Given the description of an element on the screen output the (x, y) to click on. 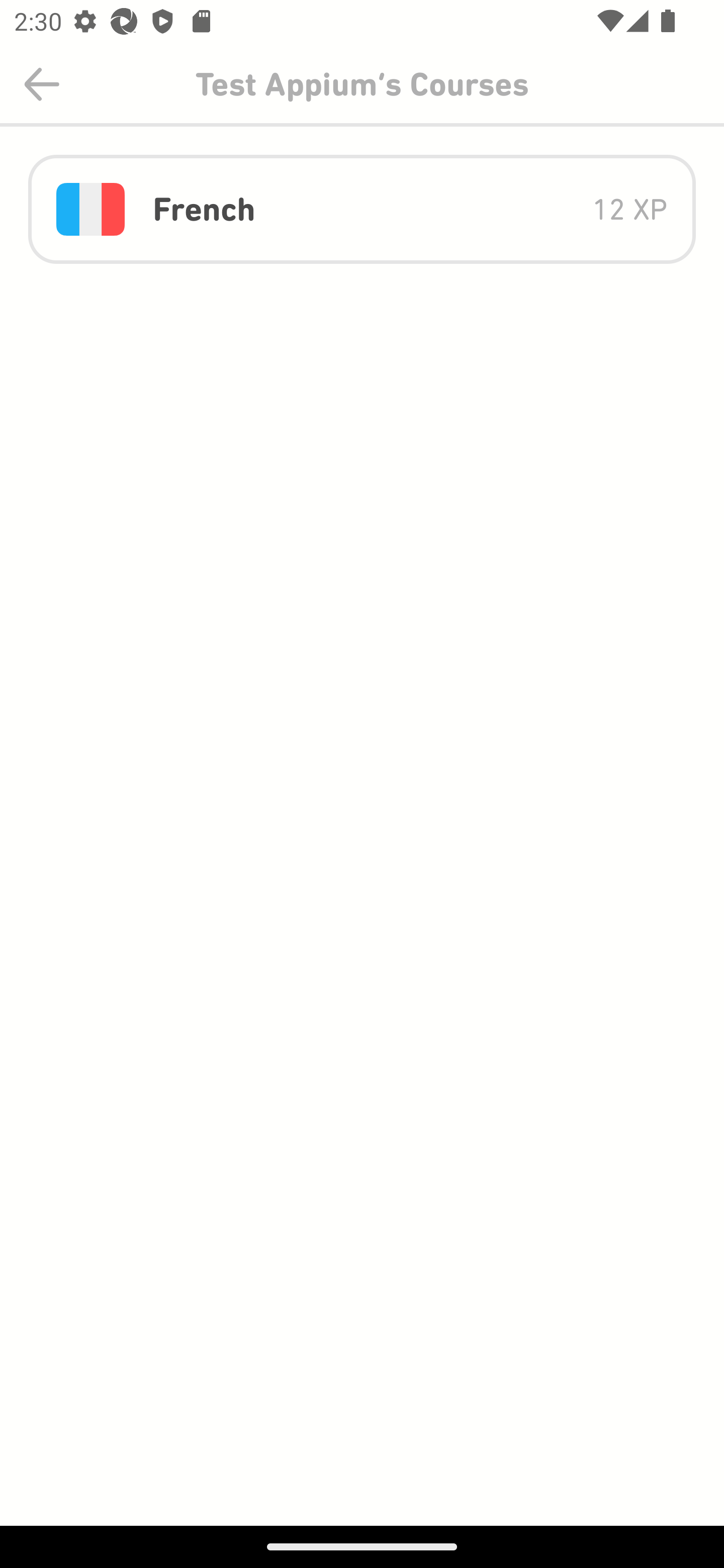
Back (41, 84)
